Given the description of an element on the screen output the (x, y) to click on. 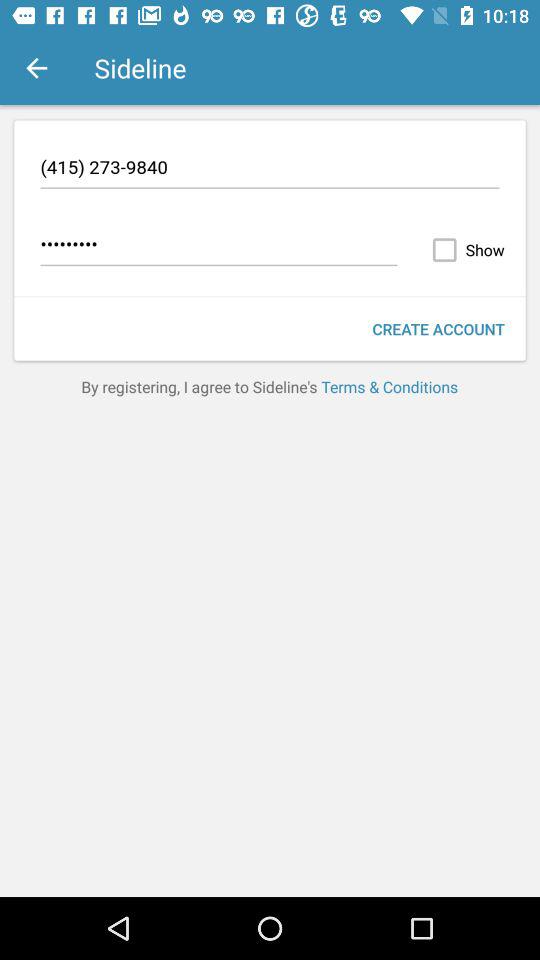
tap the item to the right of crowd3116 icon (463, 250)
